Given the description of an element on the screen output the (x, y) to click on. 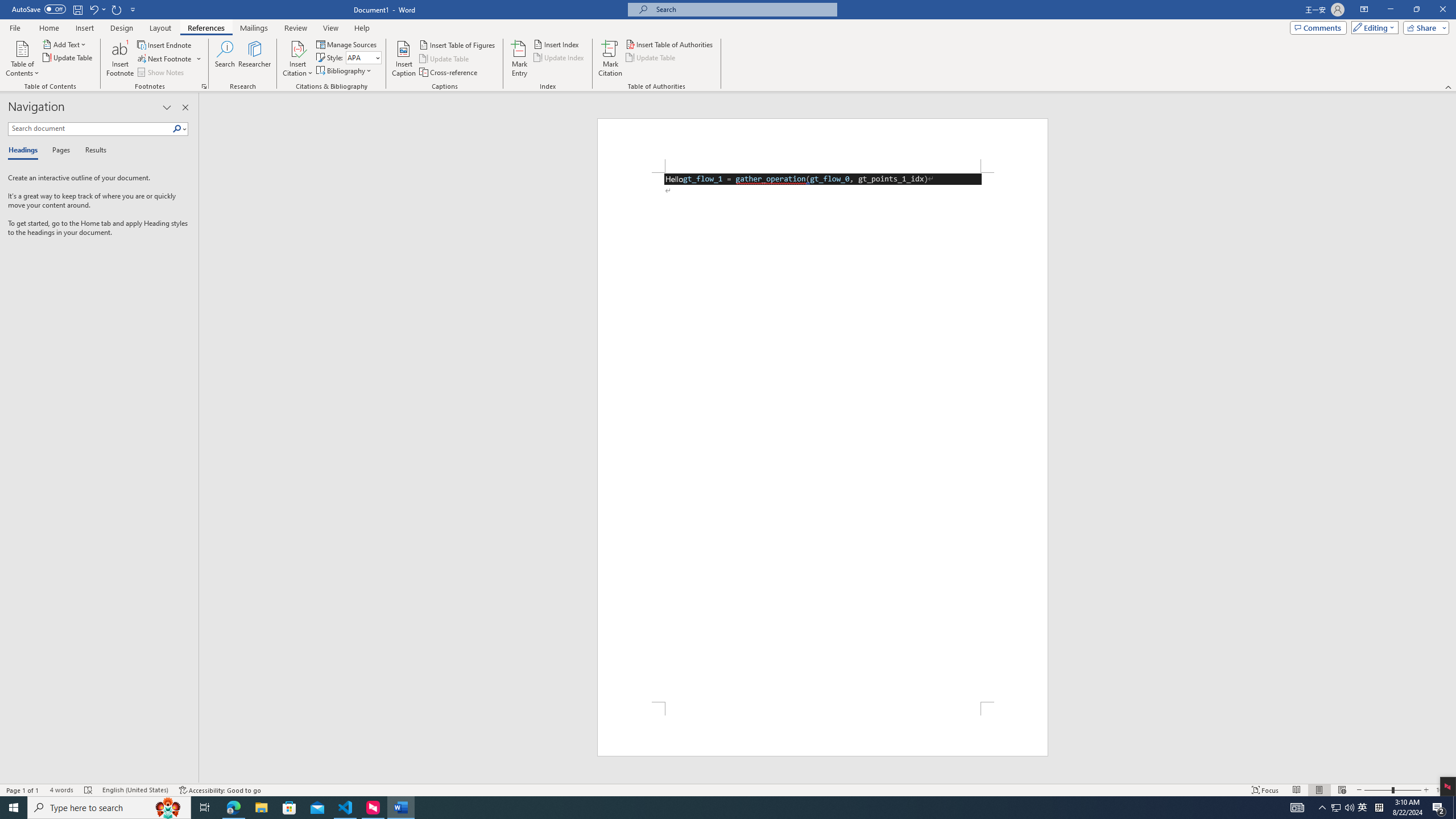
Insert Footnote (119, 58)
Update Table... (68, 56)
Update Index (559, 56)
Search document (89, 128)
Next Footnote (165, 58)
Language English (United States) (135, 790)
Microsoft search (742, 9)
Table of Contents (22, 58)
